Given the description of an element on the screen output the (x, y) to click on. 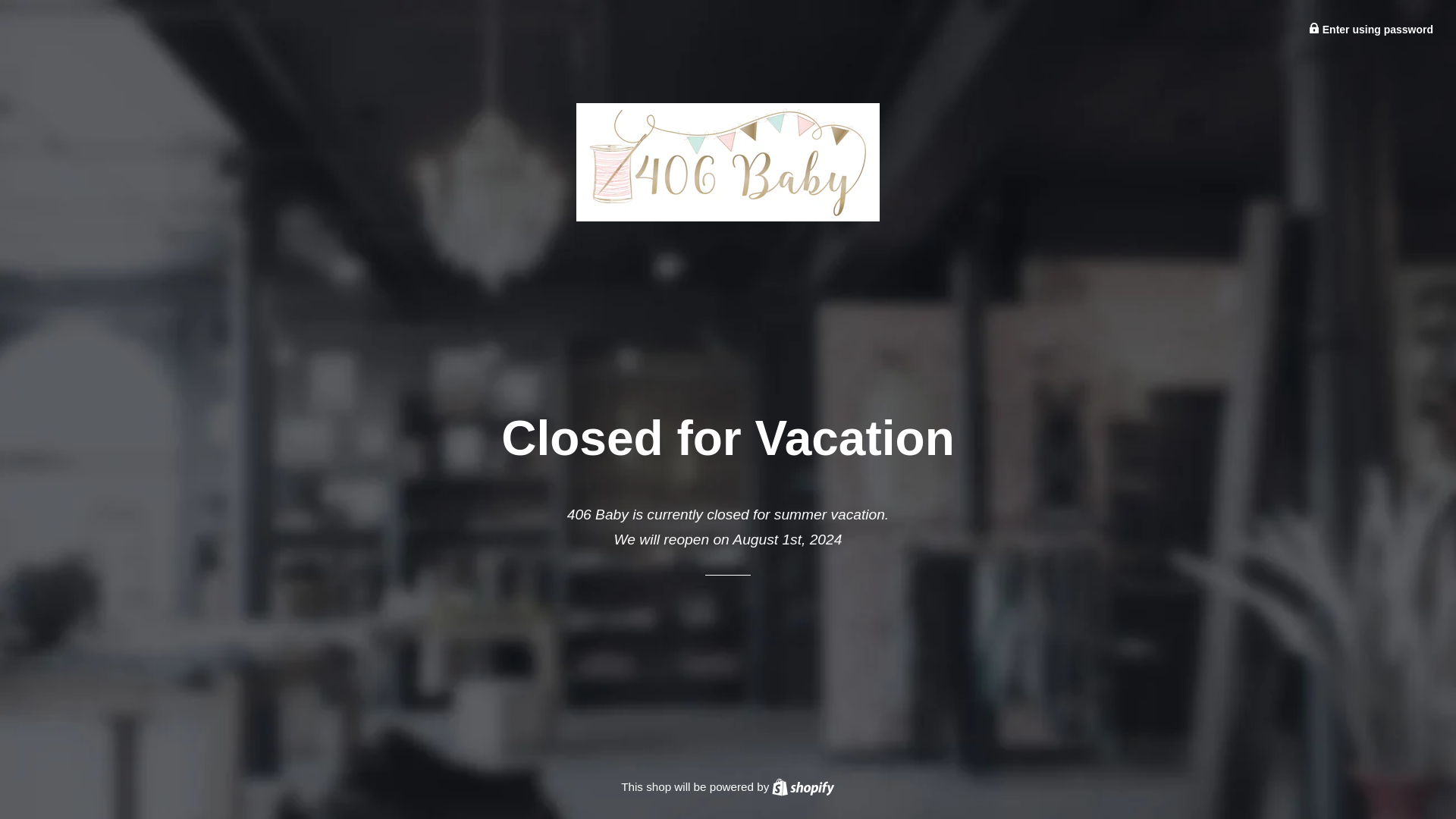
Create your own online store with Shopify (802, 786)
Lock icon Enter using password (802, 786)
Shopify logo (1370, 29)
Lock icon (802, 787)
